Given the description of an element on the screen output the (x, y) to click on. 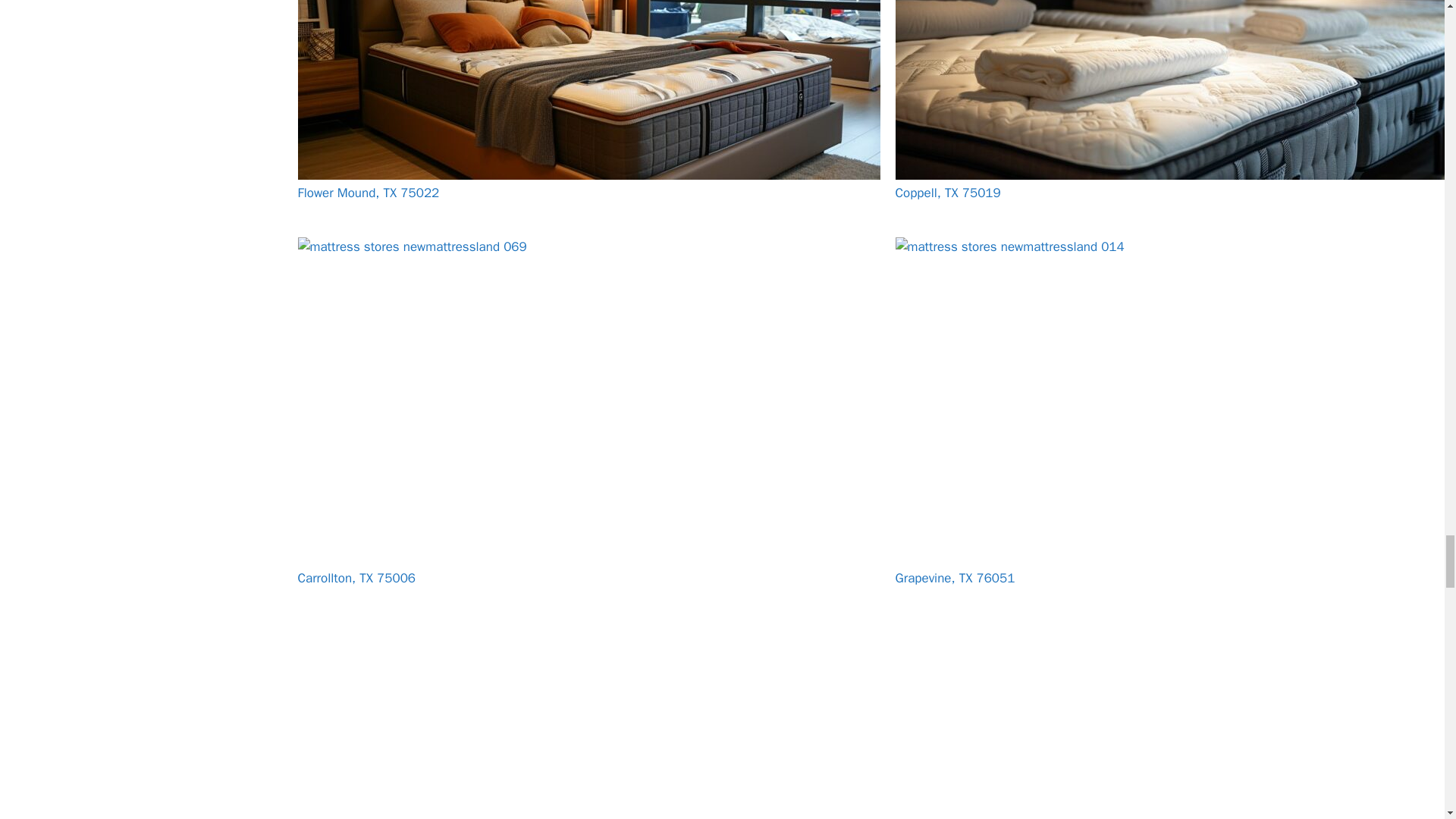
Mattress Stores in Flower Mound, TX (588, 100)
Mattress Stores in Coppell, TX (1175, 100)
Flower Mound, TX 75022 (368, 192)
